Given the description of an element on the screen output the (x, y) to click on. 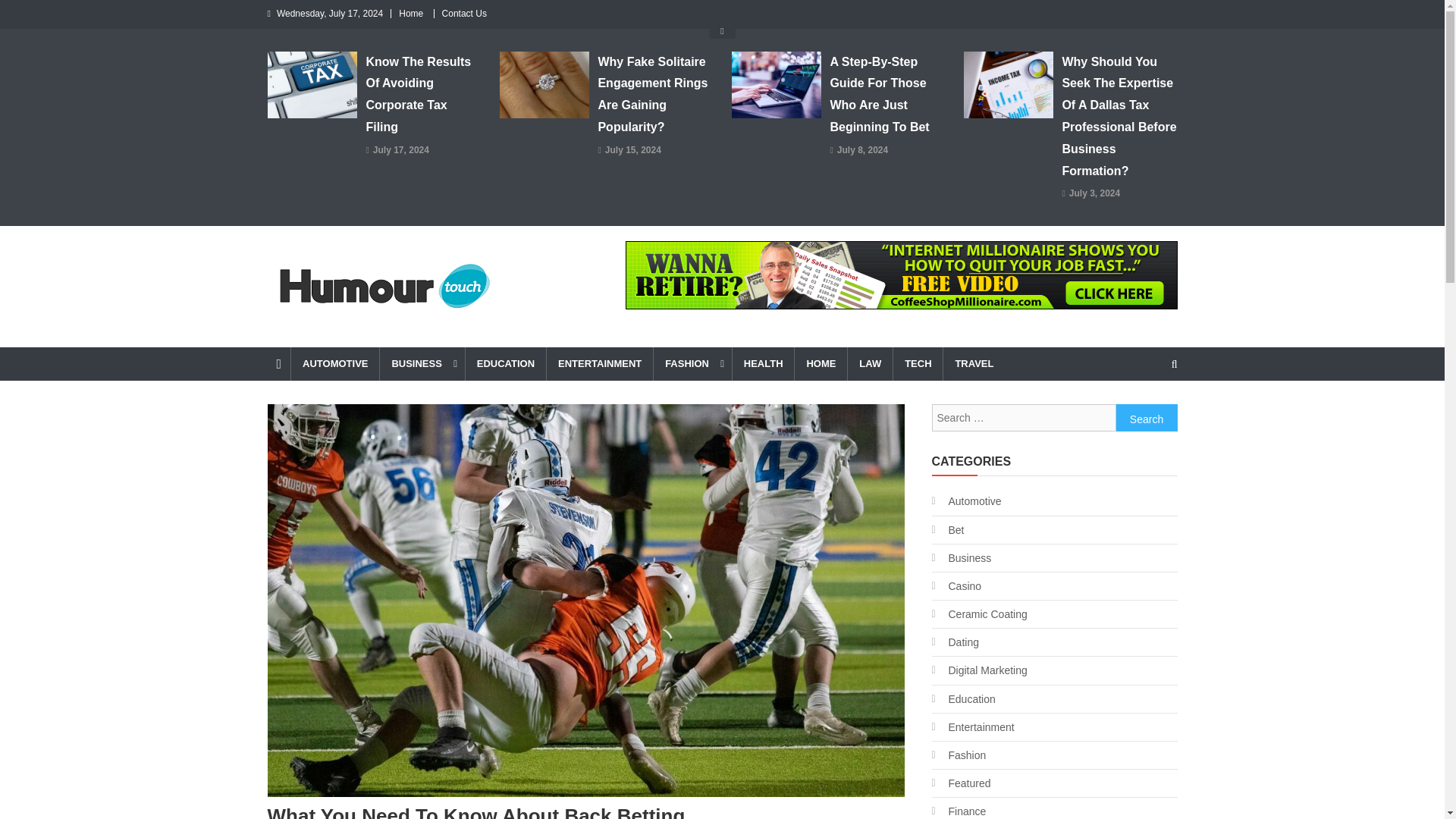
Search (1146, 417)
July 15, 2024 (633, 150)
LAW (869, 363)
Humour Touch (352, 331)
TRAVEL (973, 363)
BUSINESS (421, 363)
EDUCATION (505, 363)
Home (410, 13)
HOME (820, 363)
Why Fake Solitaire Engagement Rings Are Gaining Popularity? (654, 94)
Contact Us (464, 13)
HEALTH (763, 363)
Search (1145, 416)
July 3, 2024 (1093, 193)
AUTOMOTIVE (333, 363)
